Given the description of an element on the screen output the (x, y) to click on. 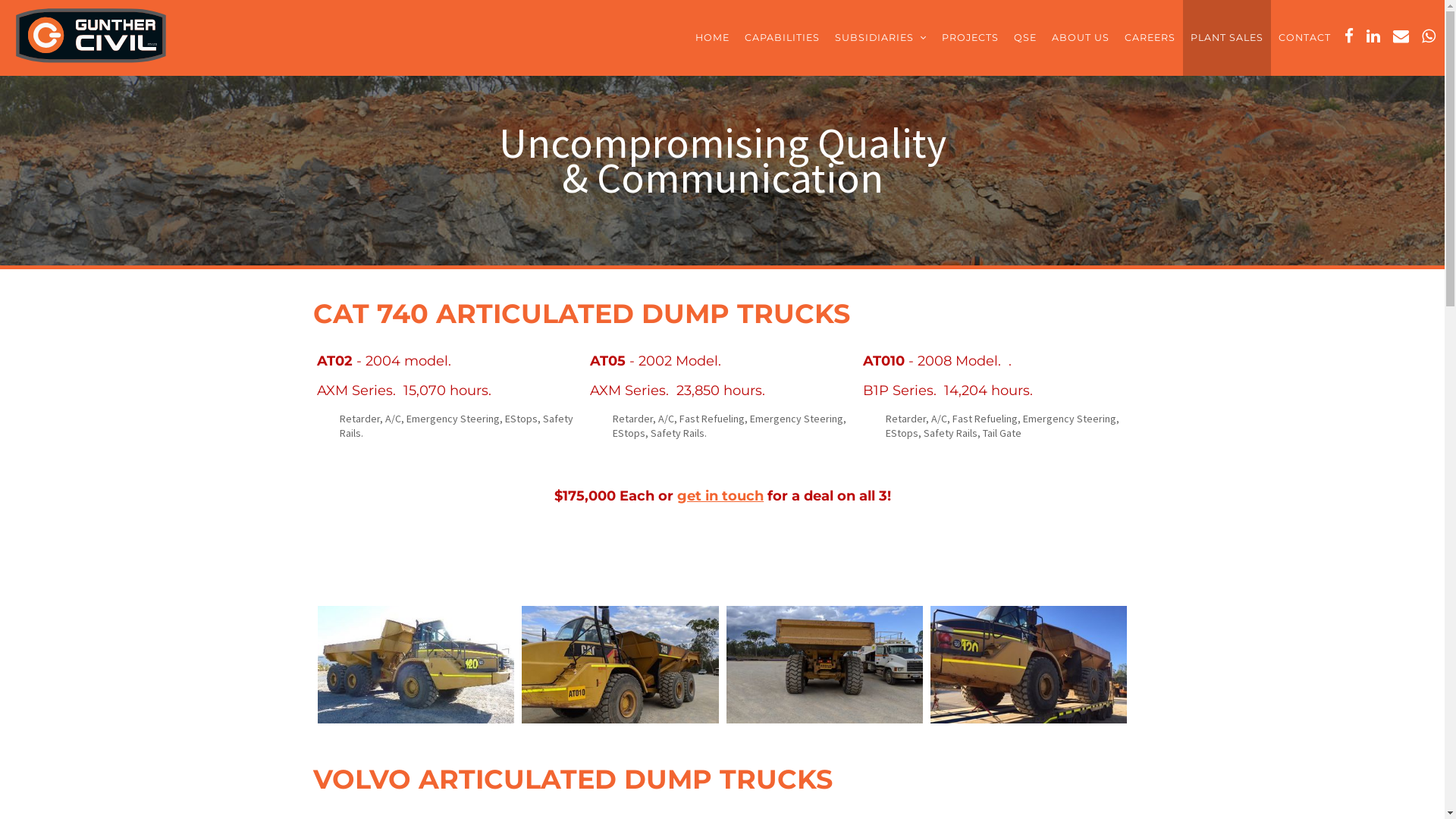
HOME Element type: text (712, 37)
CONTACT Element type: text (1304, 37)
SUBSIDIARIES Element type: text (880, 37)
CAREERS Element type: text (1150, 37)
CAPABILITIES Element type: text (782, 37)
PLANT SALES Element type: text (1226, 37)
ABOUT US Element type: text (1080, 37)
PROJECTS Element type: text (970, 37)
get in touch Element type: text (720, 495)
QSE Element type: text (1025, 37)
